Given the description of an element on the screen output the (x, y) to click on. 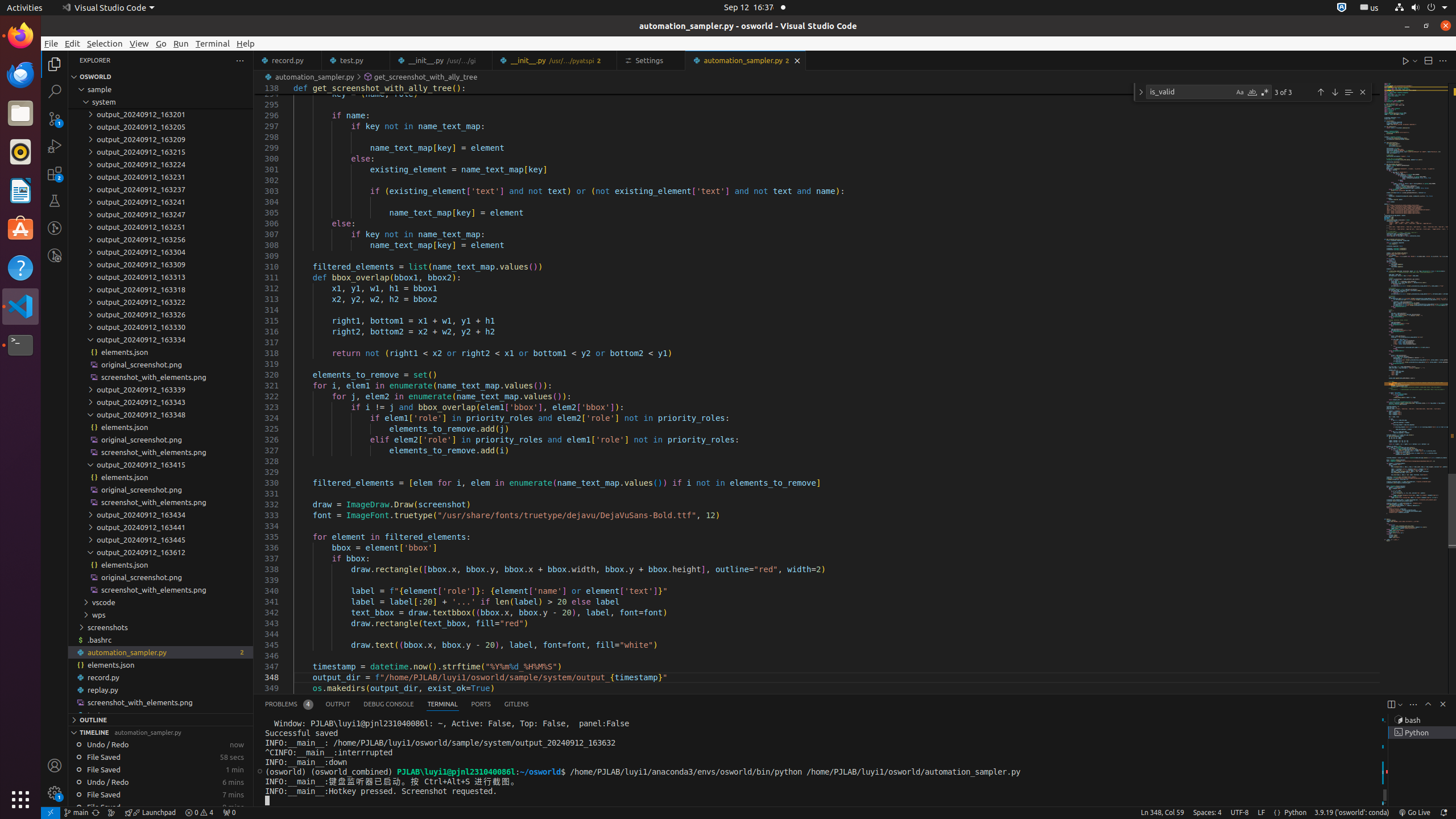
6 minutes: Undo / Redo Element type: tree-item (160, 781)
output_20240912_163313 Element type: tree-item (160, 276)
Terminal 1 bash Element type: list-item (1422, 719)
LF Element type: push-button (1261, 812)
output_20240912_163256 Element type: tree-item (160, 239)
